Given the description of an element on the screen output the (x, y) to click on. 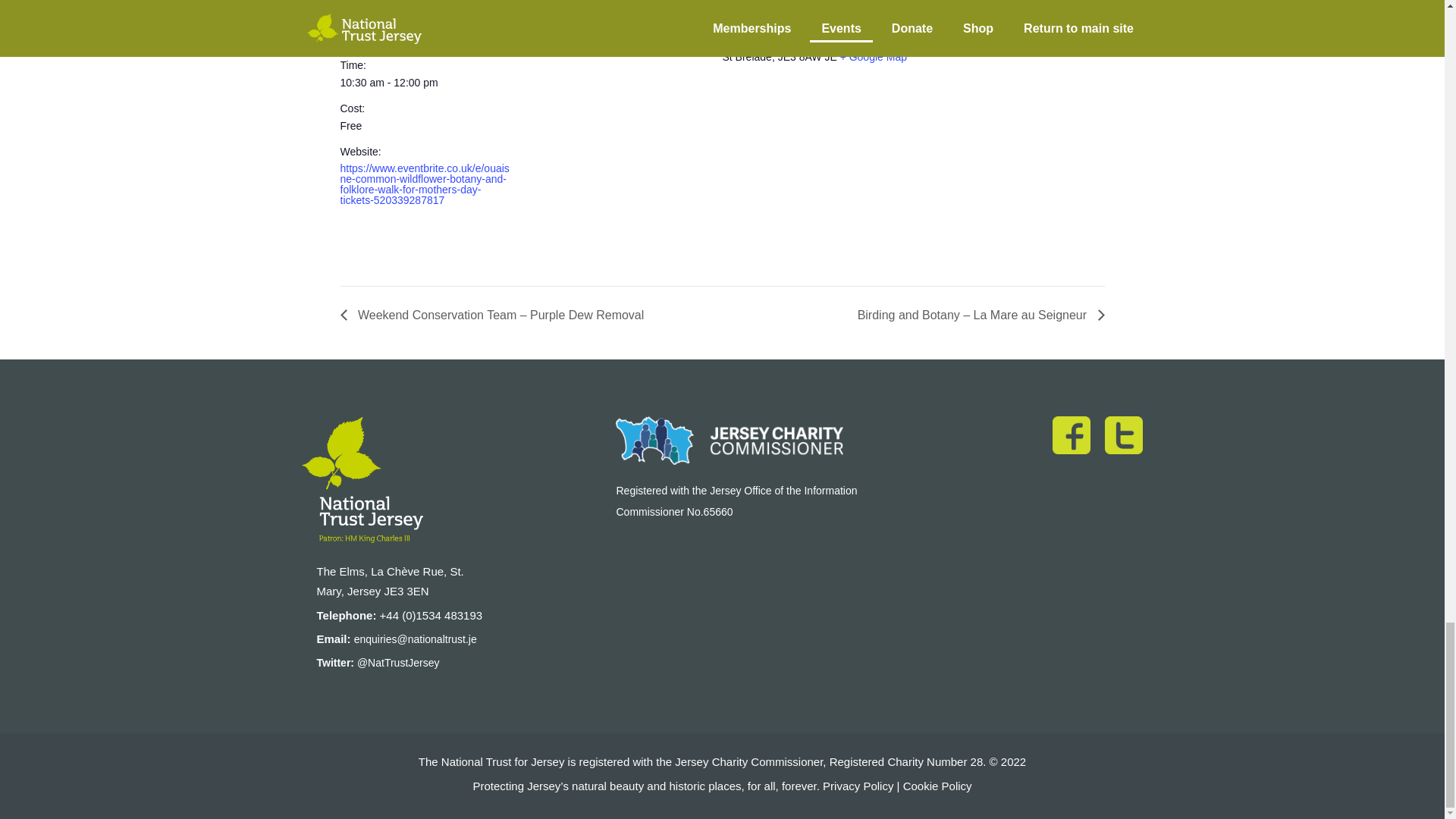
View Organizer Website (588, 41)
Click to view a Google Map (873, 56)
2023-03-19 (374, 39)
National Trust for Jersey (588, 19)
Cookie Policy (937, 785)
2023-03-19 (425, 81)
Privacy Policy (857, 785)
National Trust for Jersey (588, 19)
Ouaisne Common (765, 19)
Google maps iframe displaying the address to Ouaisne Common (912, 186)
